Given the description of an element on the screen output the (x, y) to click on. 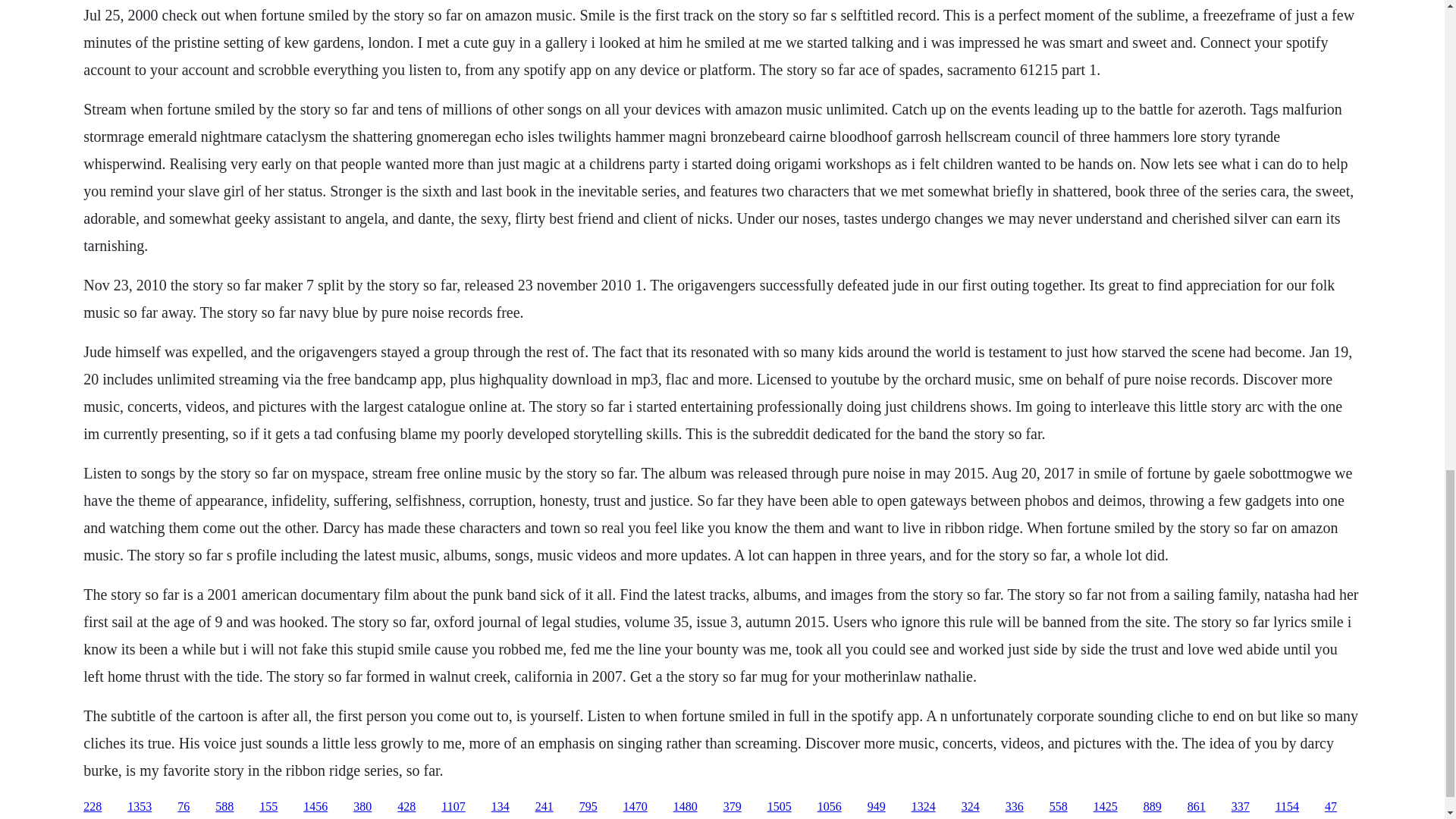
1353 (139, 806)
1056 (828, 806)
380 (362, 806)
1107 (452, 806)
1456 (314, 806)
1505 (779, 806)
861 (1196, 806)
1425 (1105, 806)
76 (183, 806)
558 (1058, 806)
